Given the description of an element on the screen output the (x, y) to click on. 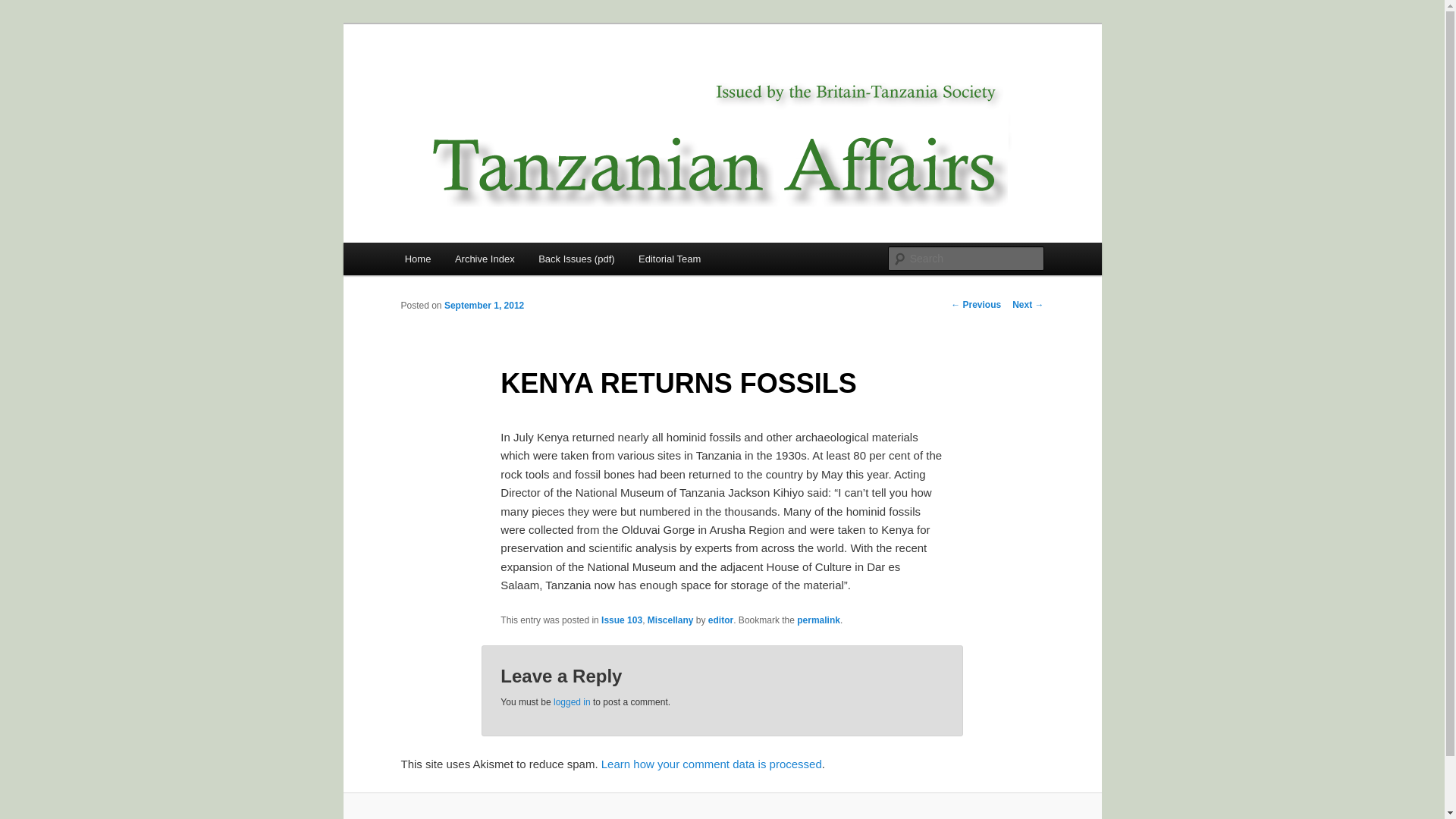
September 1, 2012 (484, 305)
Archive Index (483, 258)
Home (417, 258)
Miscellany (670, 620)
editor (720, 620)
Semantic Personal Publishing Platform (721, 818)
Learn how your comment data is processed (711, 763)
Search (24, 8)
Proudly powered by WordPress (721, 818)
logged in (572, 701)
